Given the description of an element on the screen output the (x, y) to click on. 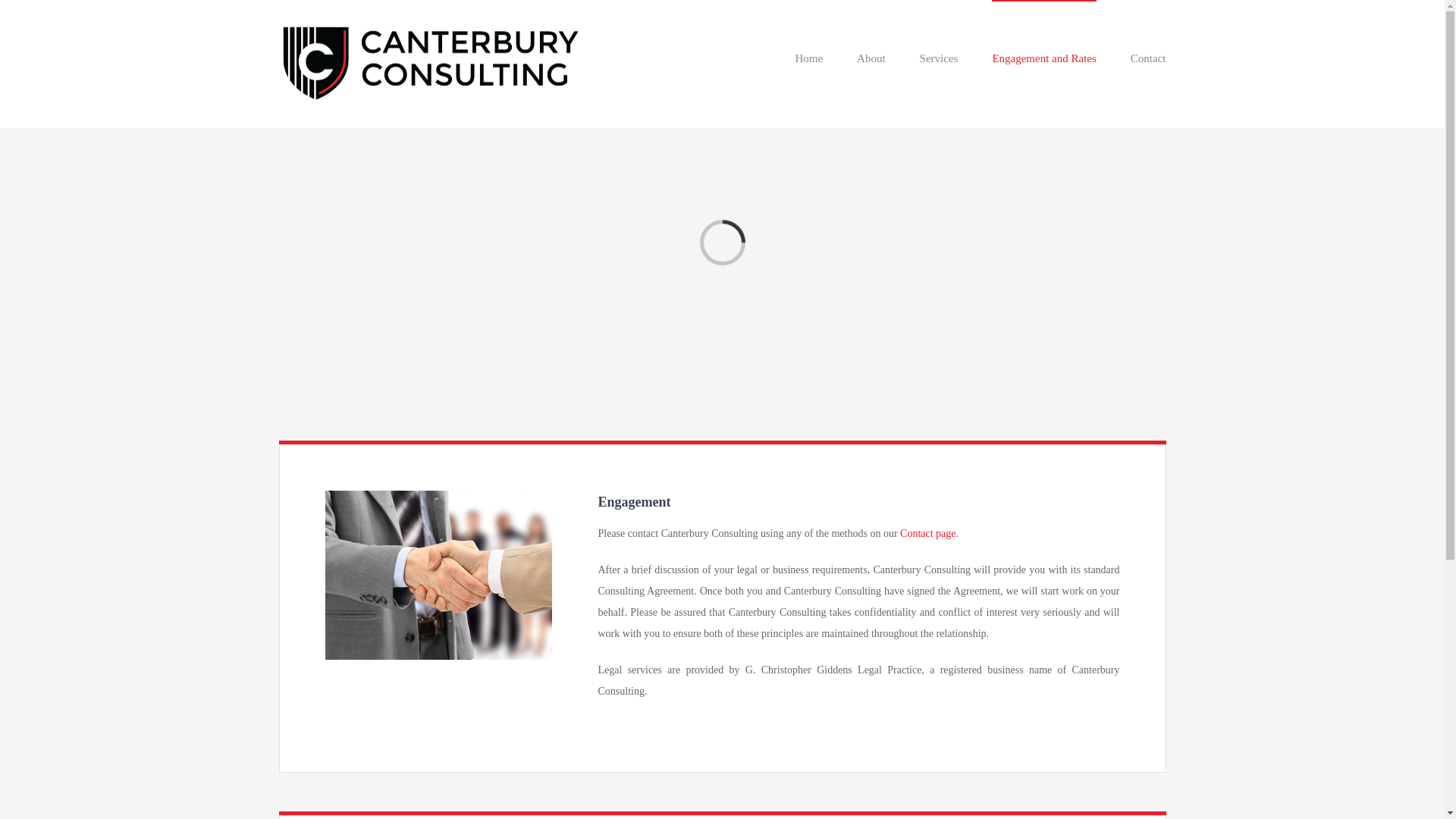
Engagement and Rates (1043, 57)
East Coast Dynamics (784, 775)
Contact page (927, 532)
